Given the description of an element on the screen output the (x, y) to click on. 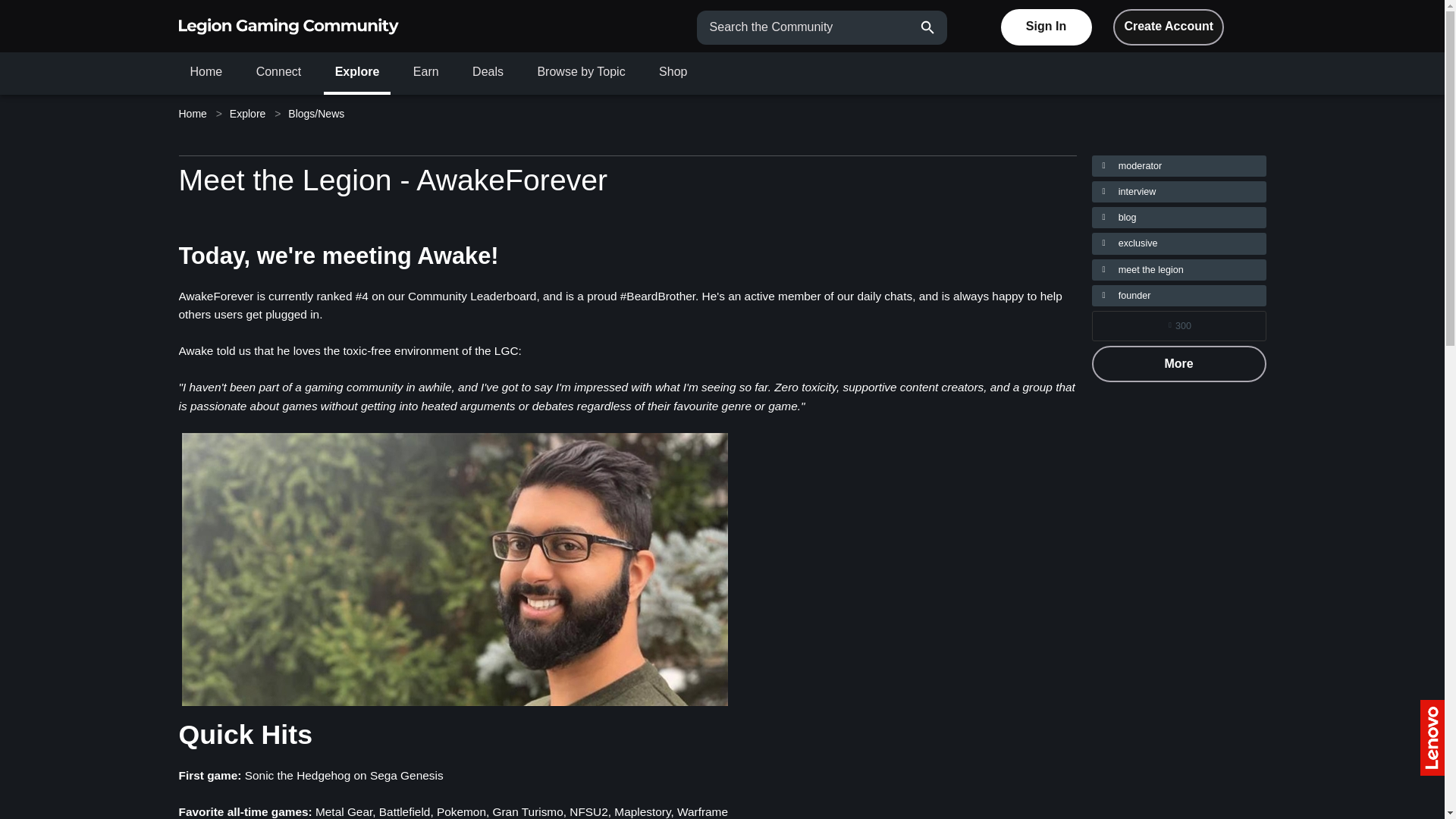
Sign In (1046, 27)
Meet the Legion - AwakeForever (393, 179)
blog (1179, 217)
moderator (1179, 165)
founder (1179, 295)
Home (196, 113)
Explore (247, 113)
exclusive (1179, 242)
interview (1179, 191)
Browse by Topic (580, 71)
meet the legion (1179, 269)
300 (1178, 326)
Connect (278, 71)
More (1179, 363)
Create Account (1169, 27)
